Given the description of an element on the screen output the (x, y) to click on. 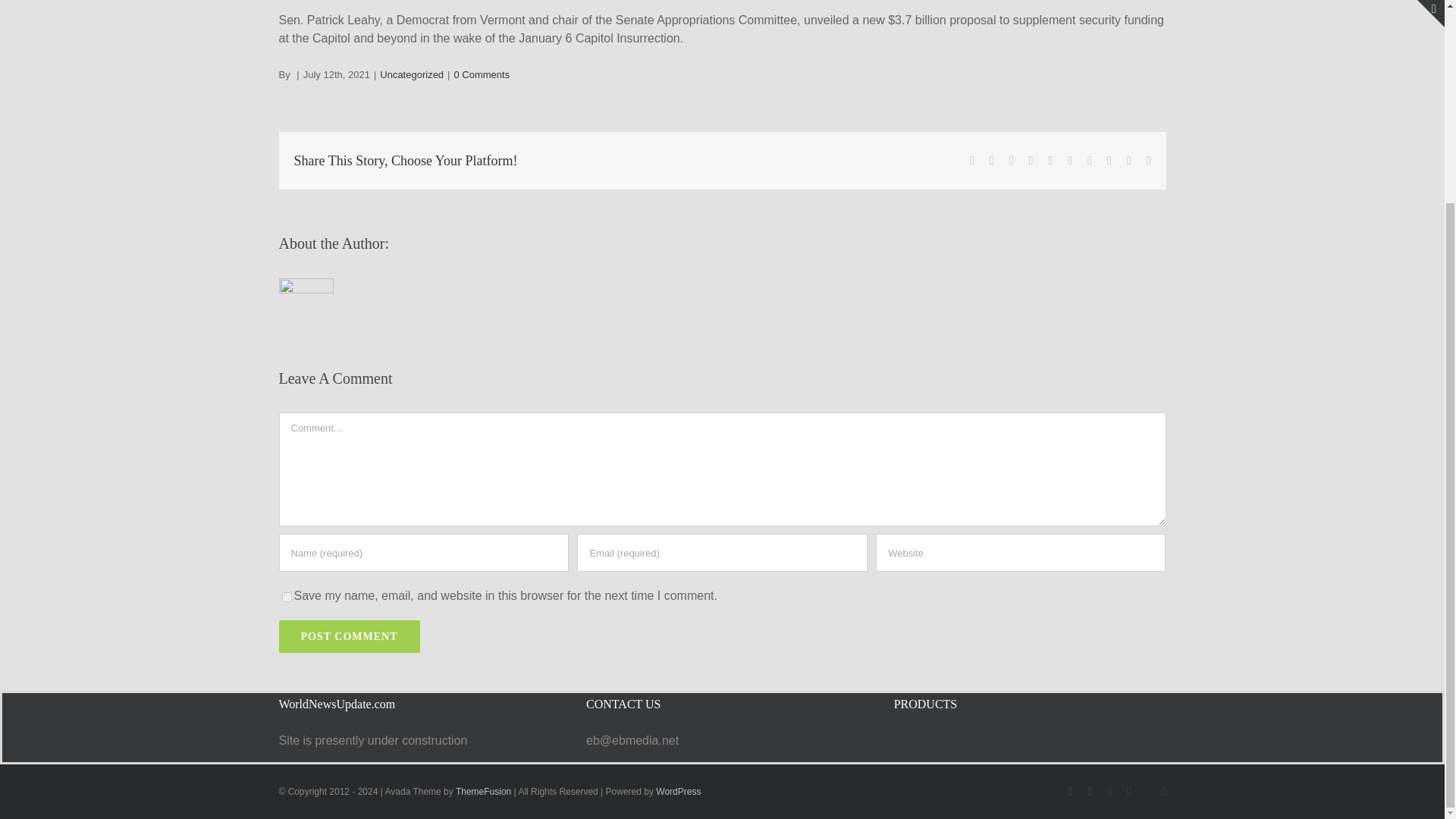
Uncategorized (412, 74)
Post Comment (349, 635)
yes (287, 596)
Post Comment (349, 635)
ThemeFusion (483, 791)
0 Comments (480, 74)
WordPress (678, 791)
